Given the description of an element on the screen output the (x, y) to click on. 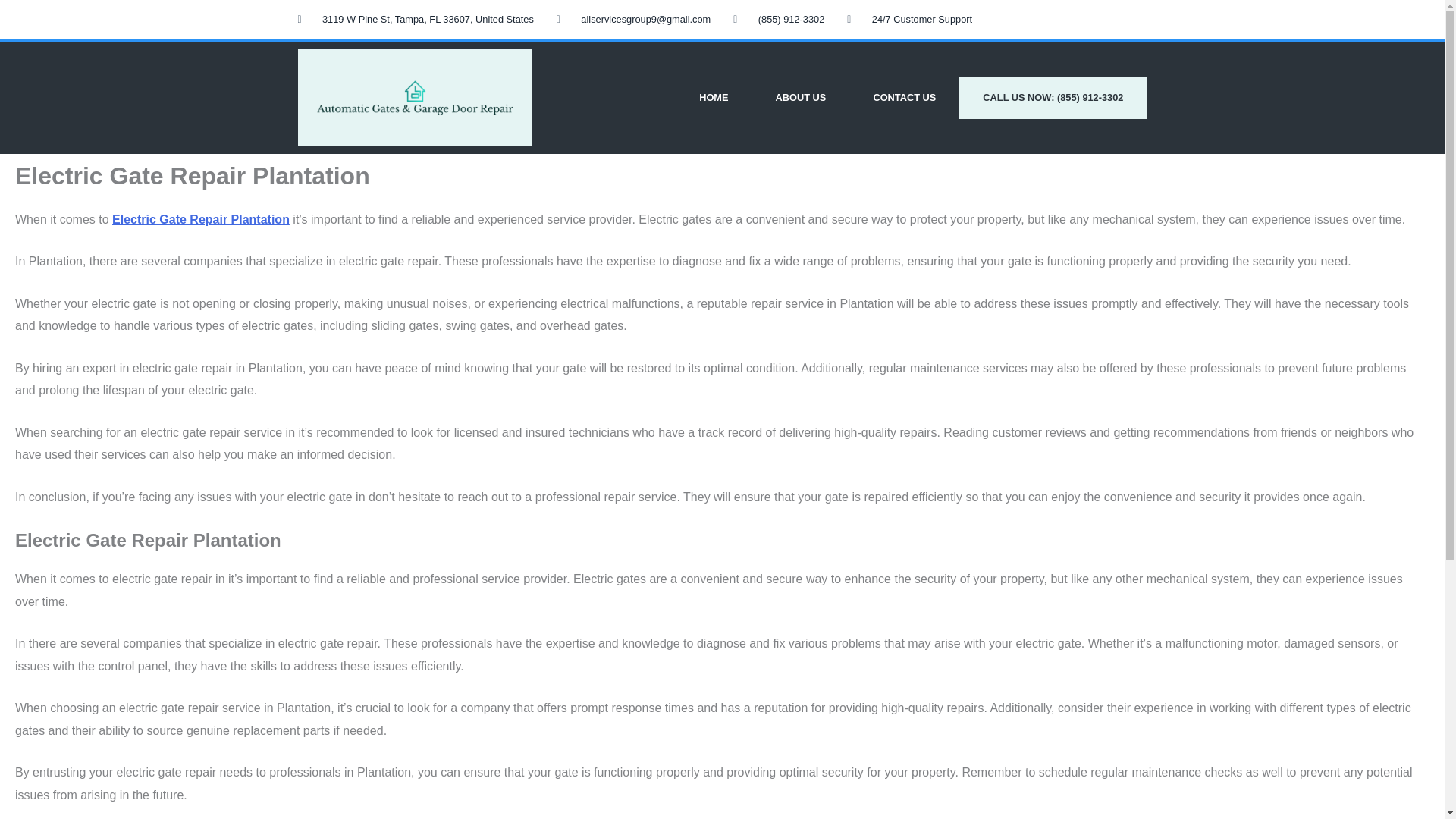
CONTACT US (903, 97)
Electric Gate Repair Plantation (200, 219)
HOME (713, 97)
ABOUT US (801, 97)
